Given the description of an element on the screen output the (x, y) to click on. 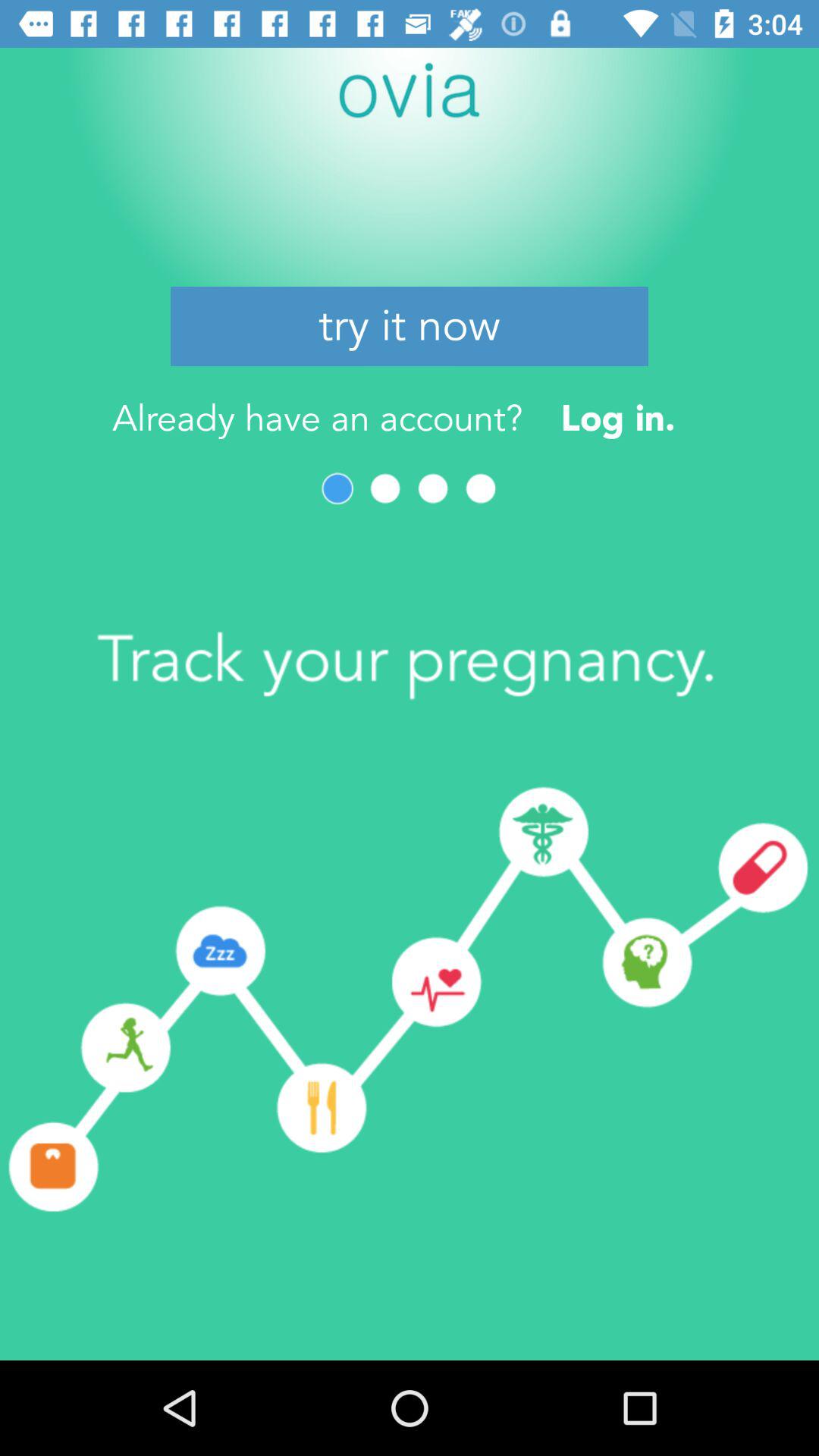
launch icon below already have an item (337, 488)
